Given the description of an element on the screen output the (x, y) to click on. 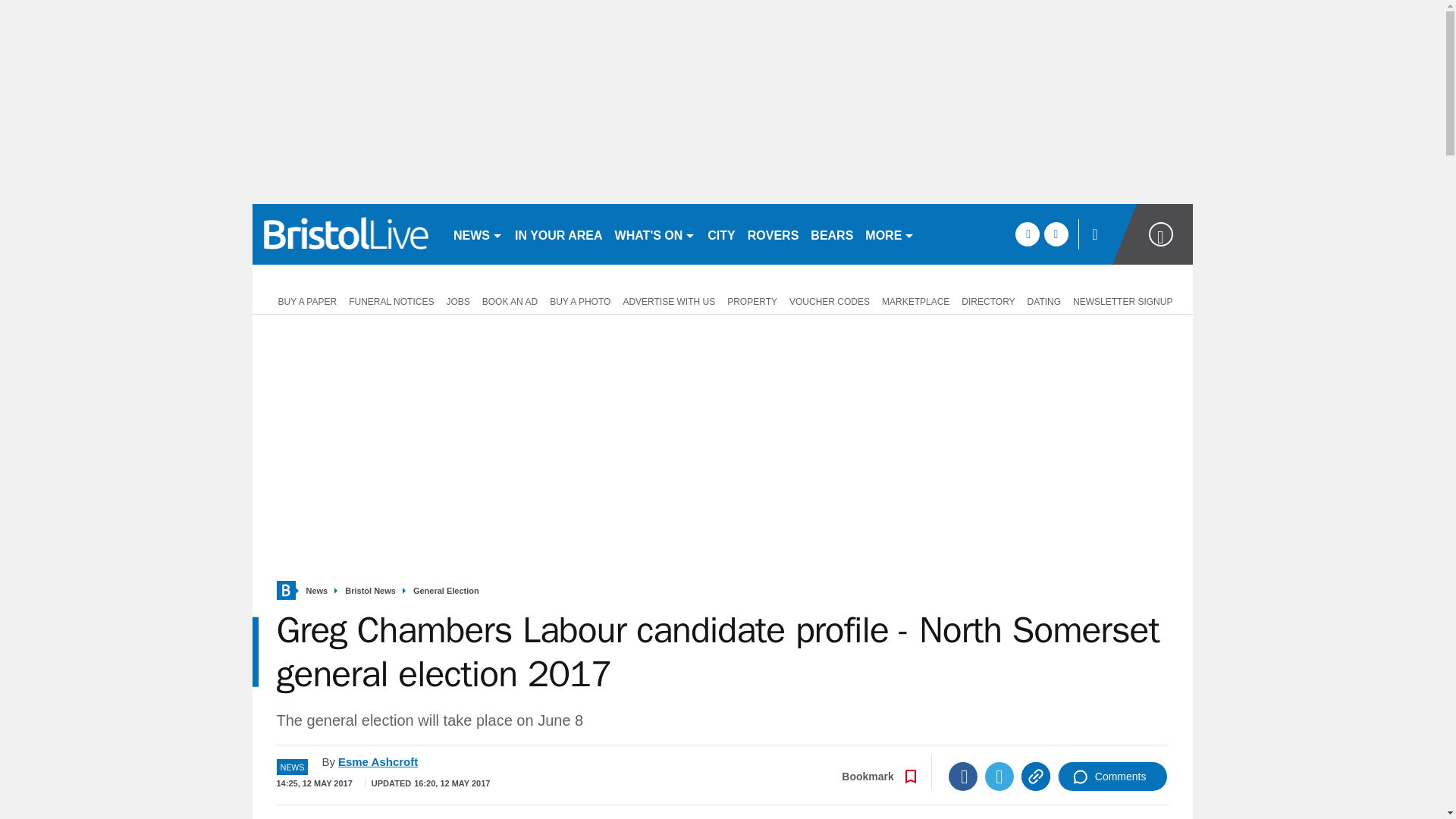
Comments (1112, 776)
BEARS (832, 233)
facebook (1026, 233)
WHAT'S ON (654, 233)
Twitter (999, 776)
IN YOUR AREA (558, 233)
ROVERS (773, 233)
twitter (1055, 233)
bristolpost (345, 233)
NEWS (477, 233)
